Given the description of an element on the screen output the (x, y) to click on. 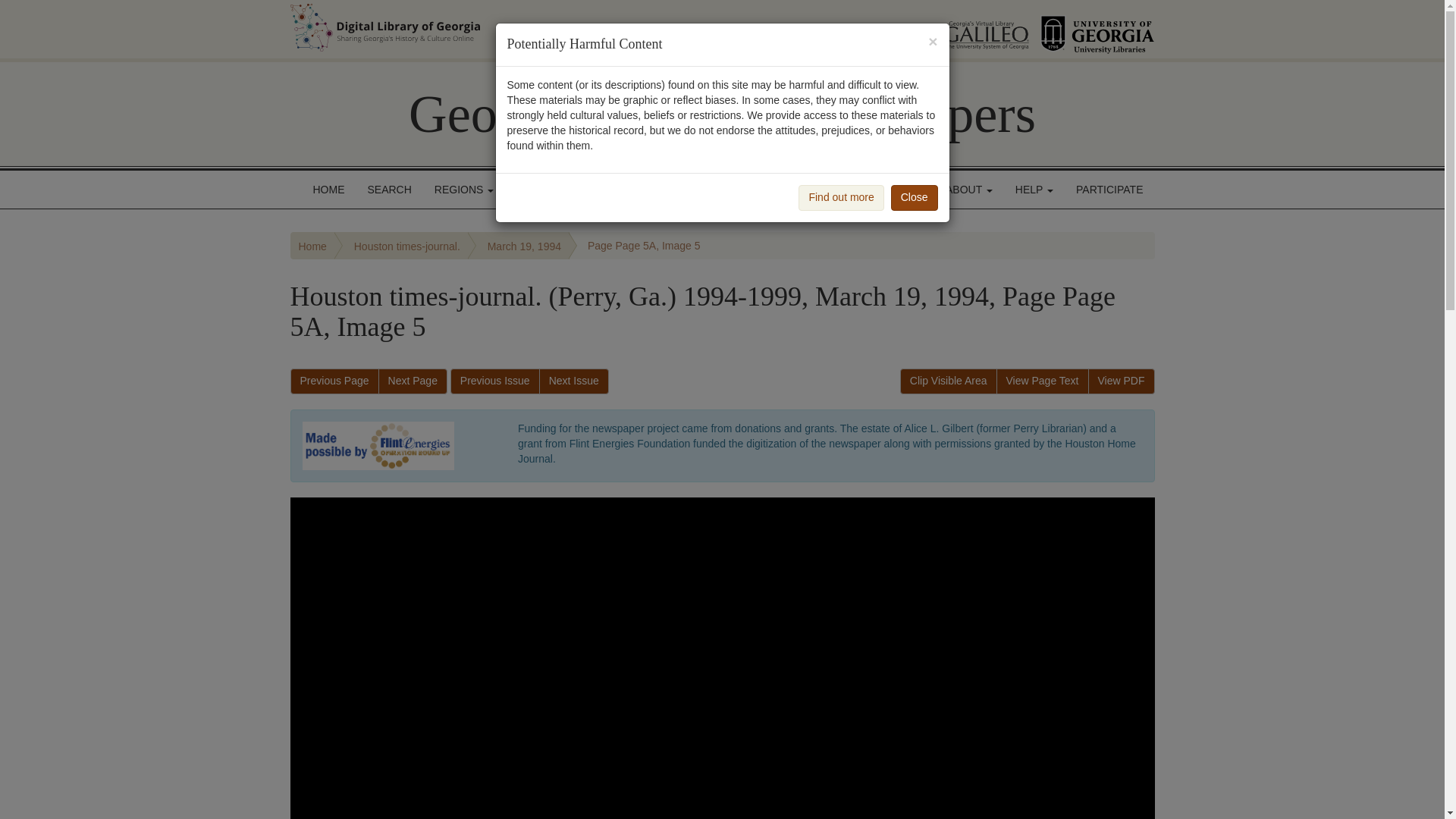
BROWSE (545, 189)
GALILEO Homepage Link (968, 29)
UGA Libraries Homepage Link (1097, 29)
NEWS (901, 189)
Georgia Historic Newspapers (722, 114)
HELP (1034, 189)
GHNP Homepage (722, 114)
Home (311, 245)
PARTICIPATE (1109, 189)
REGIONS (464, 189)
DLG Homepage Link (536, 27)
ABOUT (969, 189)
SEARCH (389, 189)
